Given the description of an element on the screen output the (x, y) to click on. 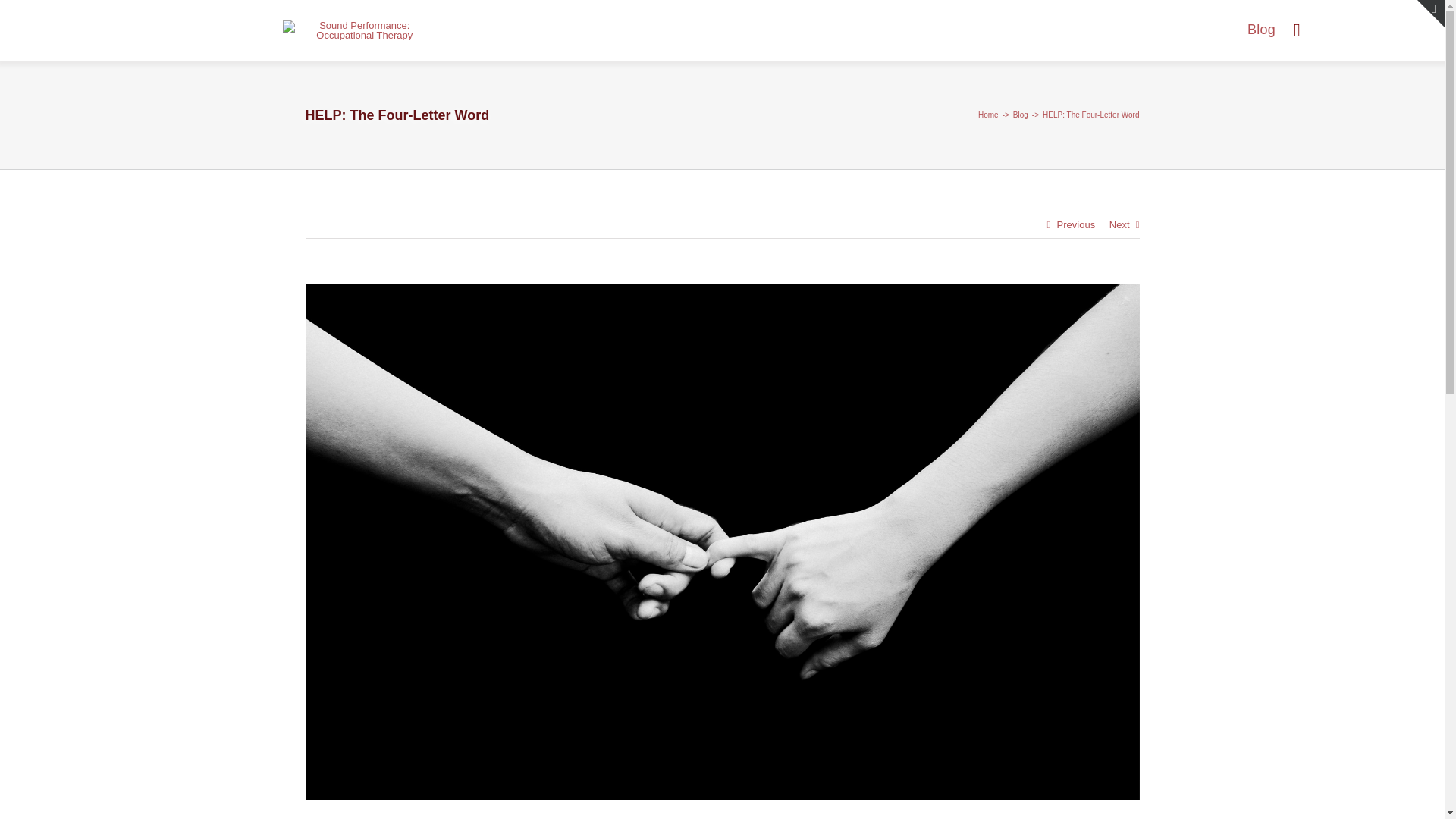
Previous (1076, 225)
Blog (1261, 30)
blog posts (1261, 30)
Blog (1020, 114)
Home (988, 114)
